Given the description of an element on the screen output the (x, y) to click on. 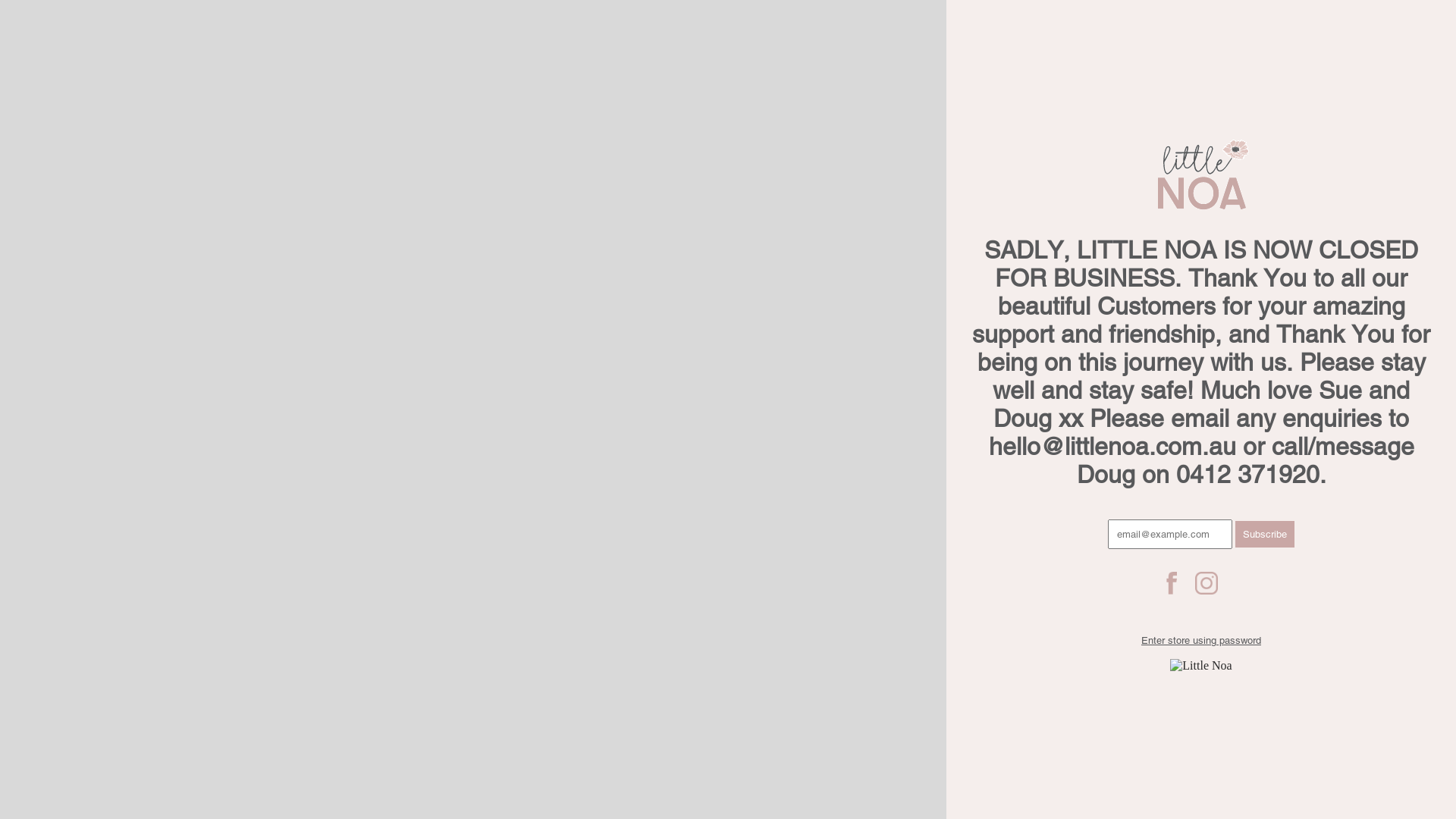
Subscribe Element type: text (1264, 533)
Enter store using password Element type: text (1201, 640)
